Given the description of an element on the screen output the (x, y) to click on. 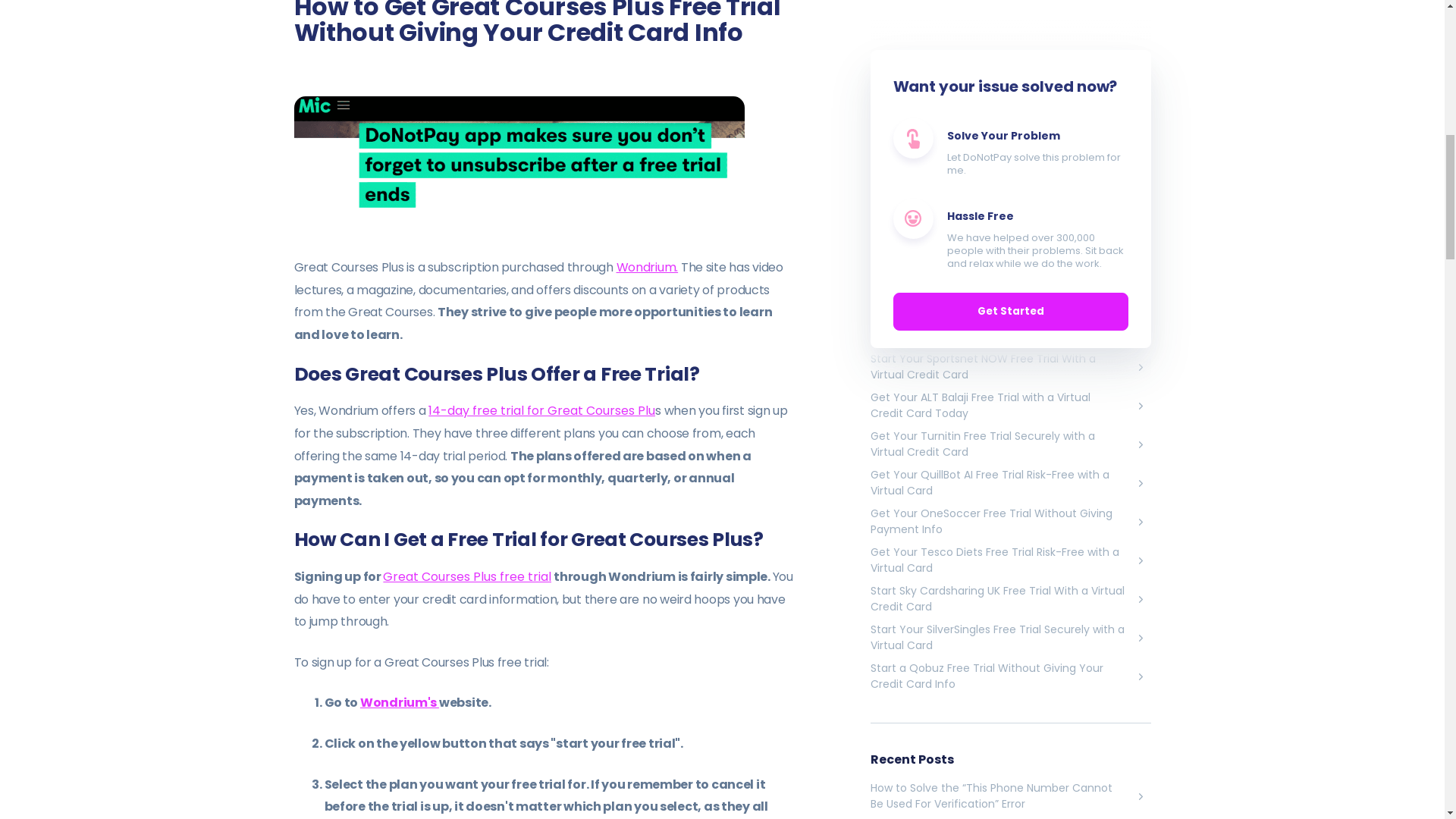
Wondrium's (399, 702)
Wondrium. (646, 267)
Great Courses Plus free trial (466, 576)
14-day free trial for Great Courses Plu (541, 410)
